Given the description of an element on the screen output the (x, y) to click on. 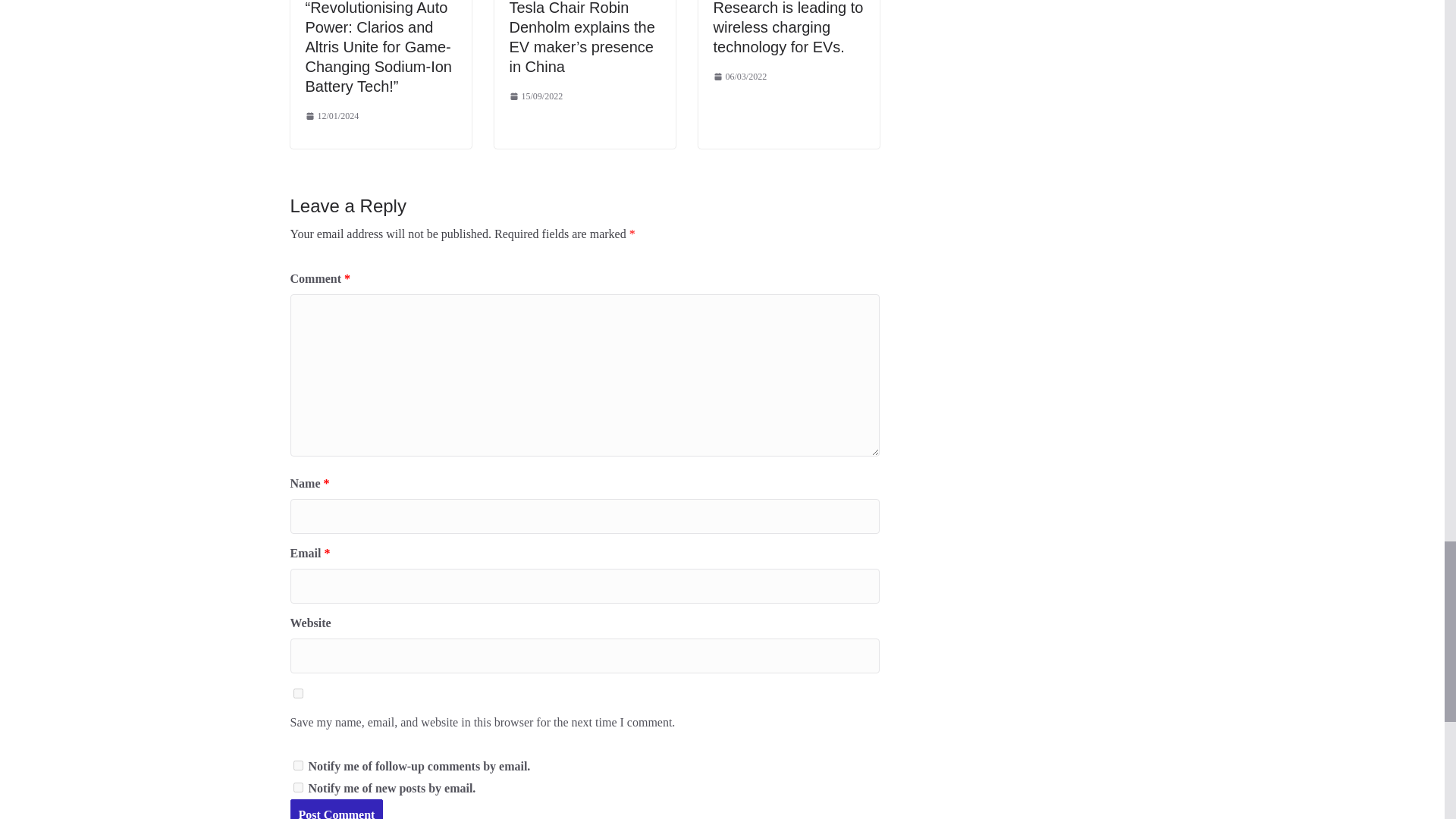
subscribe (297, 765)
yes (297, 693)
subscribe (297, 787)
Post Comment (335, 809)
